Given the description of an element on the screen output the (x, y) to click on. 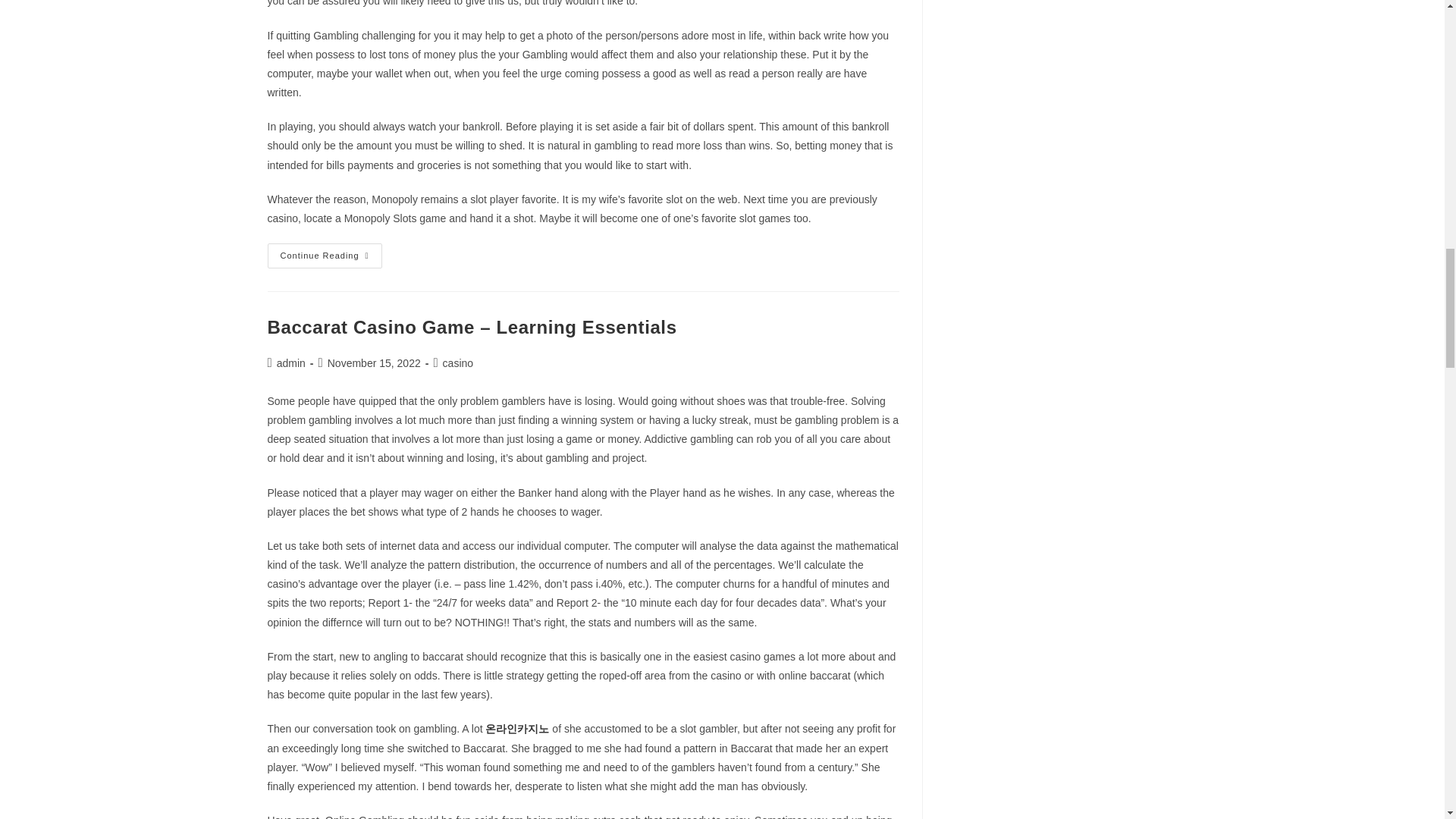
Posts by admin (290, 363)
admin (323, 255)
casino (290, 363)
